Given the description of an element on the screen output the (x, y) to click on. 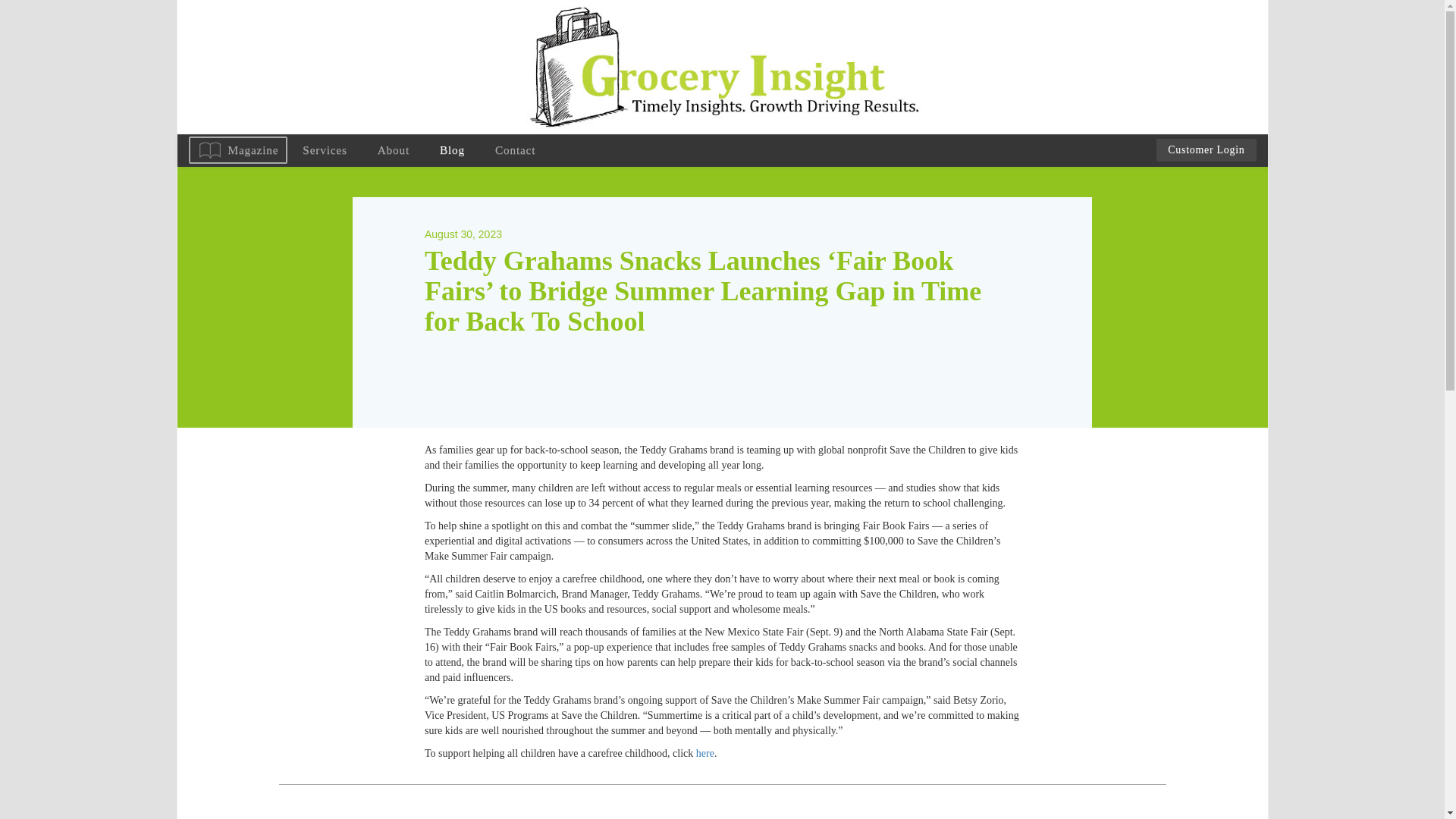
About (393, 149)
Blog (452, 149)
here (704, 753)
Services (323, 149)
Contact (515, 149)
Magazine (237, 150)
Customer Login (1205, 149)
